Given the description of an element on the screen output the (x, y) to click on. 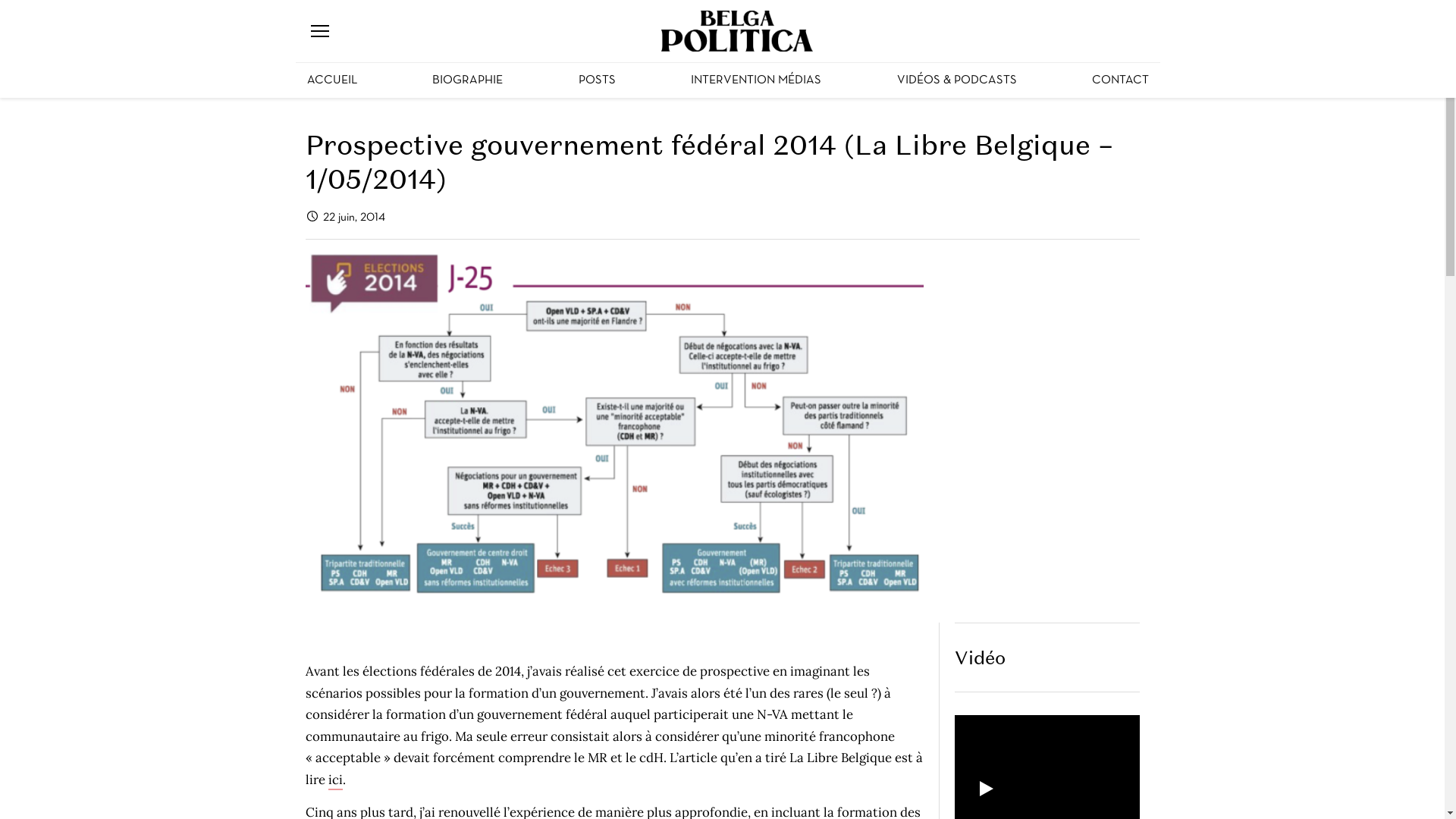
ici Element type: text (334, 779)
BIOGRAPHIE Element type: text (467, 80)
CONTACT Element type: text (1120, 80)
ACCUEIL Element type: text (332, 80)
POSTS Element type: text (596, 80)
